Given the description of an element on the screen output the (x, y) to click on. 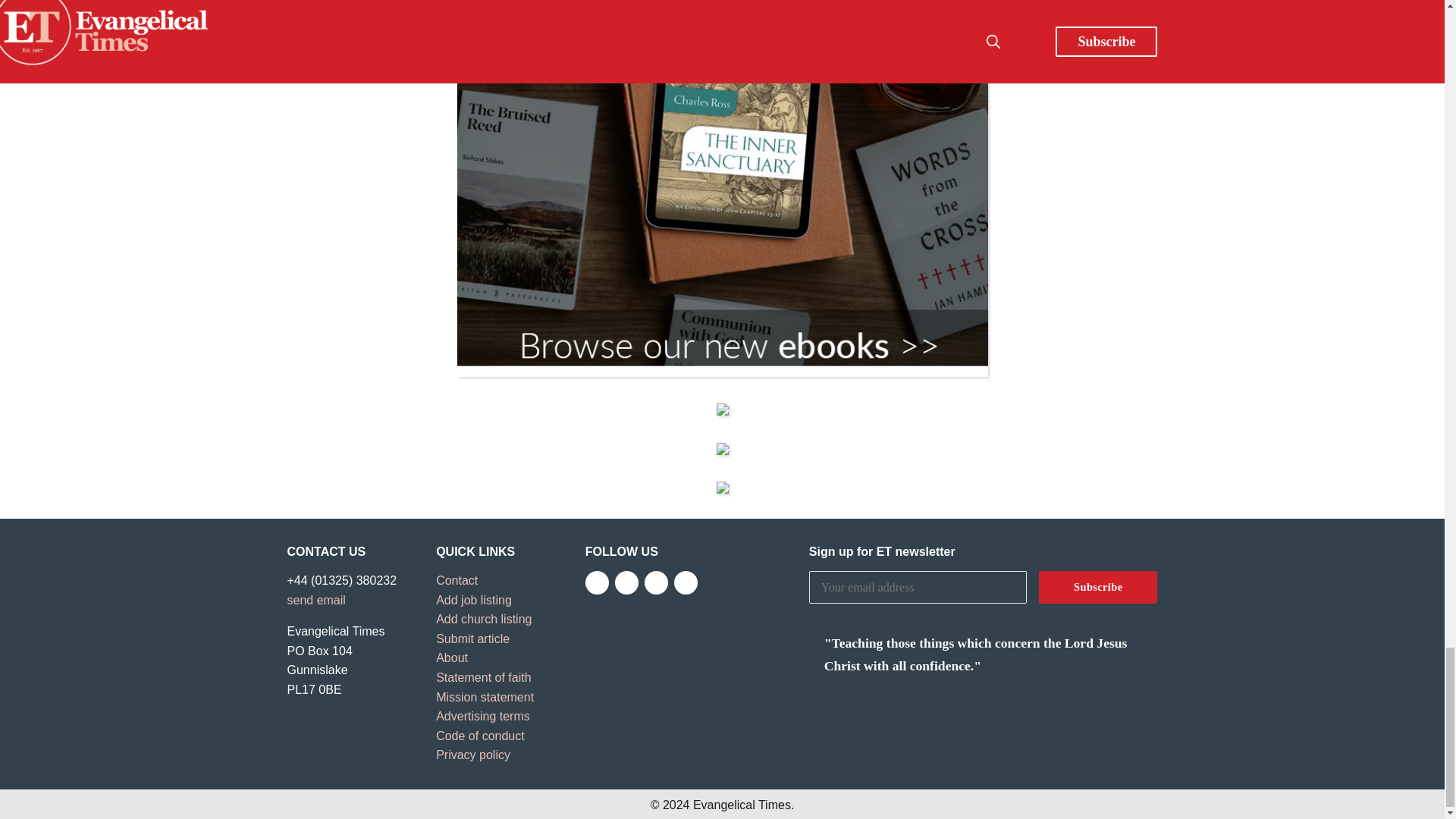
Instagram (656, 582)
Facebook (596, 582)
Twitter (626, 582)
Linkedin (685, 582)
